Given the description of an element on the screen output the (x, y) to click on. 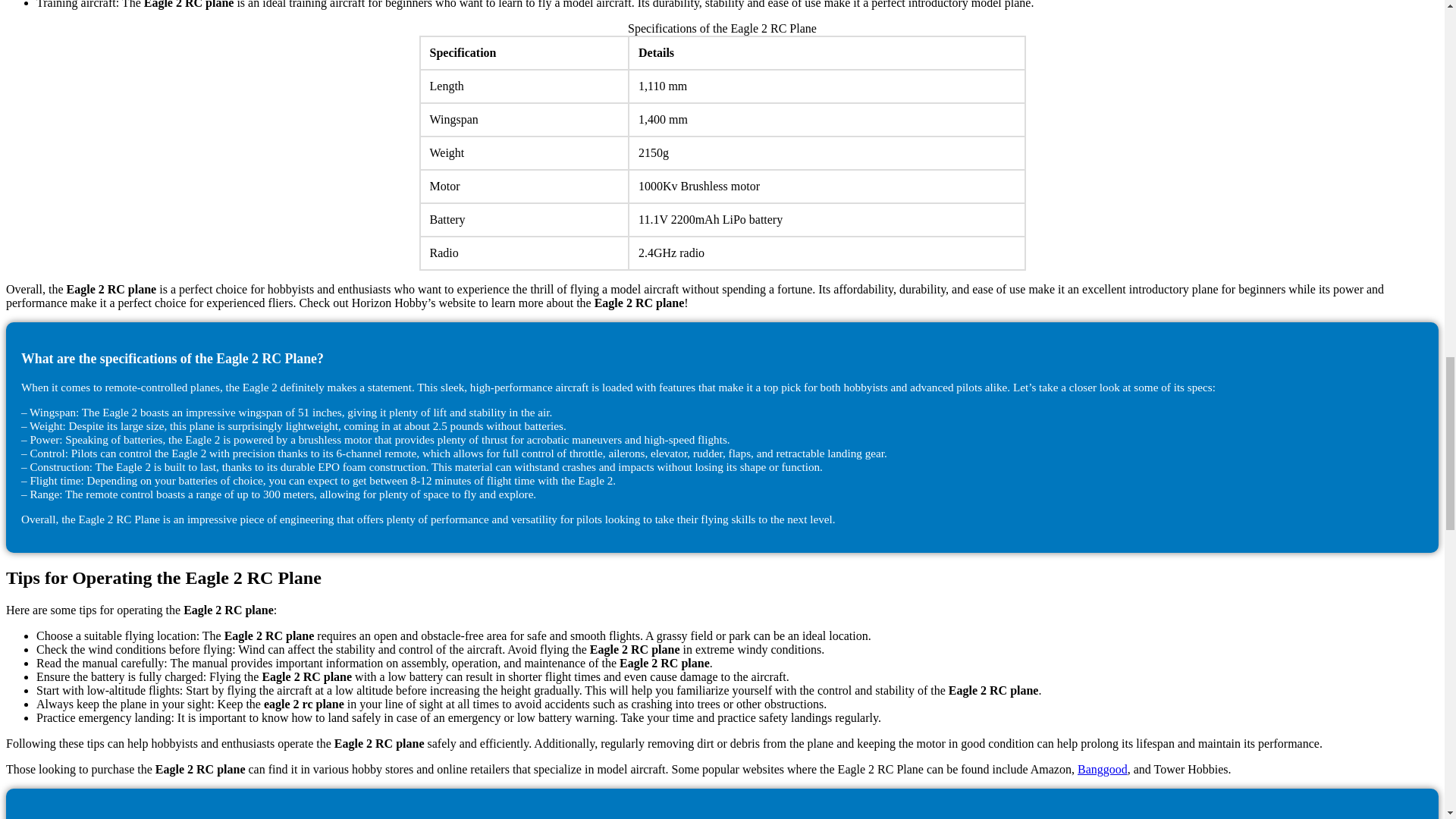
Banggood (1101, 768)
